Given the description of an element on the screen output the (x, y) to click on. 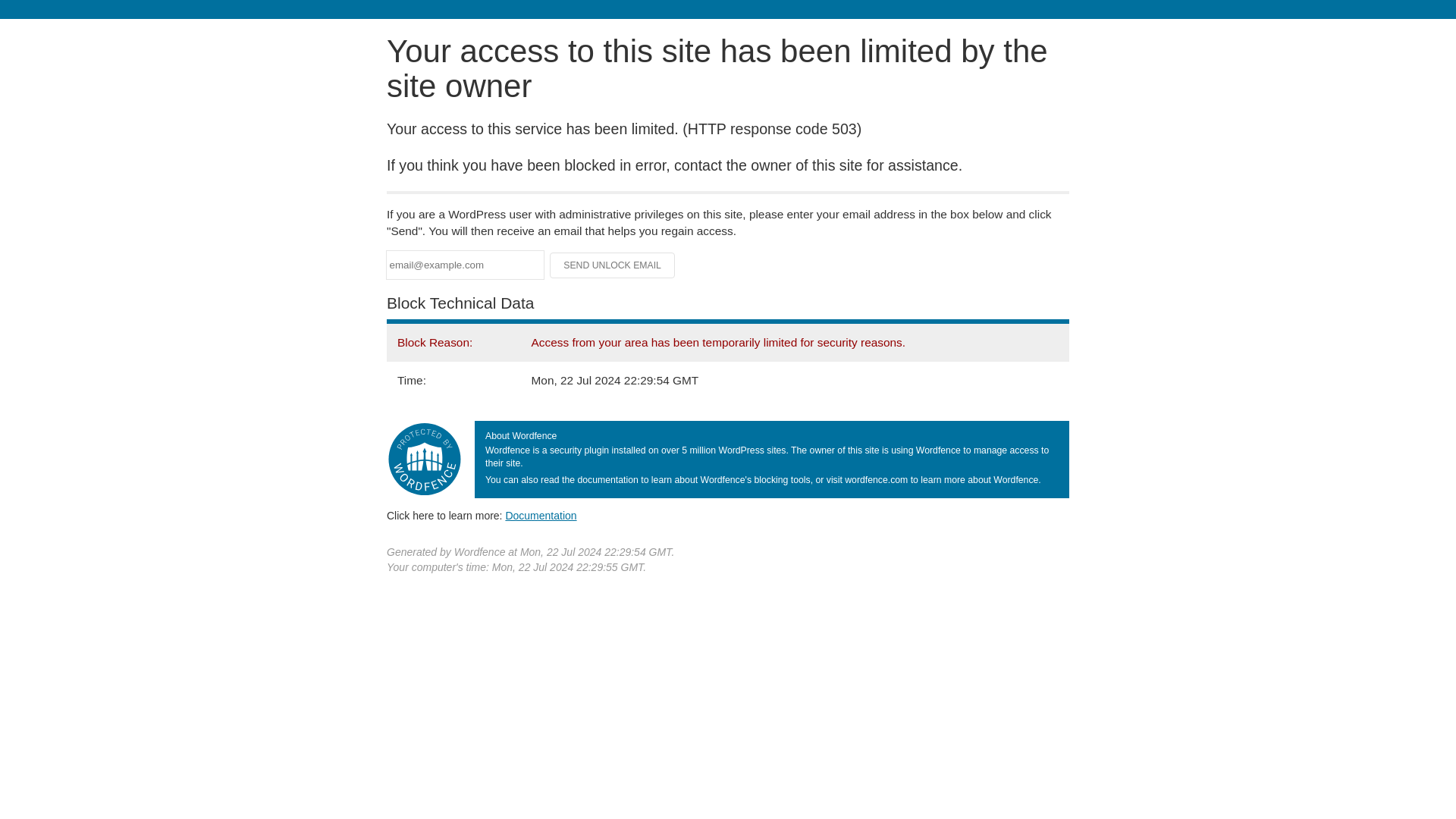
Documentation (540, 515)
Send Unlock Email (612, 265)
Send Unlock Email (612, 265)
